Given the description of an element on the screen output the (x, y) to click on. 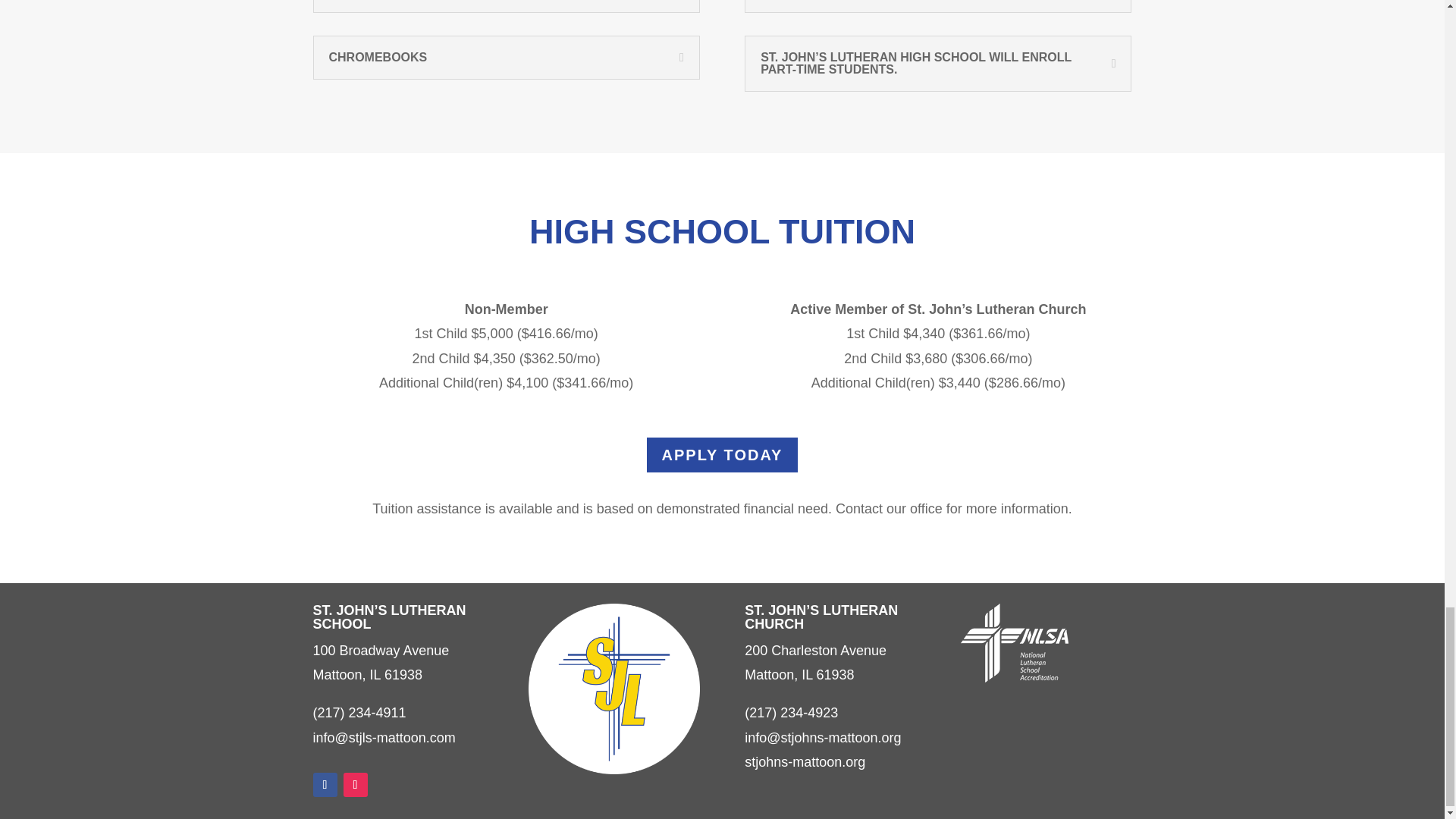
SJL-Icon (613, 688)
Follow on Instagram (354, 784)
National Lutheran School Accreditation (1014, 642)
Follow on Facebook (324, 784)
